Given the description of an element on the screen output the (x, y) to click on. 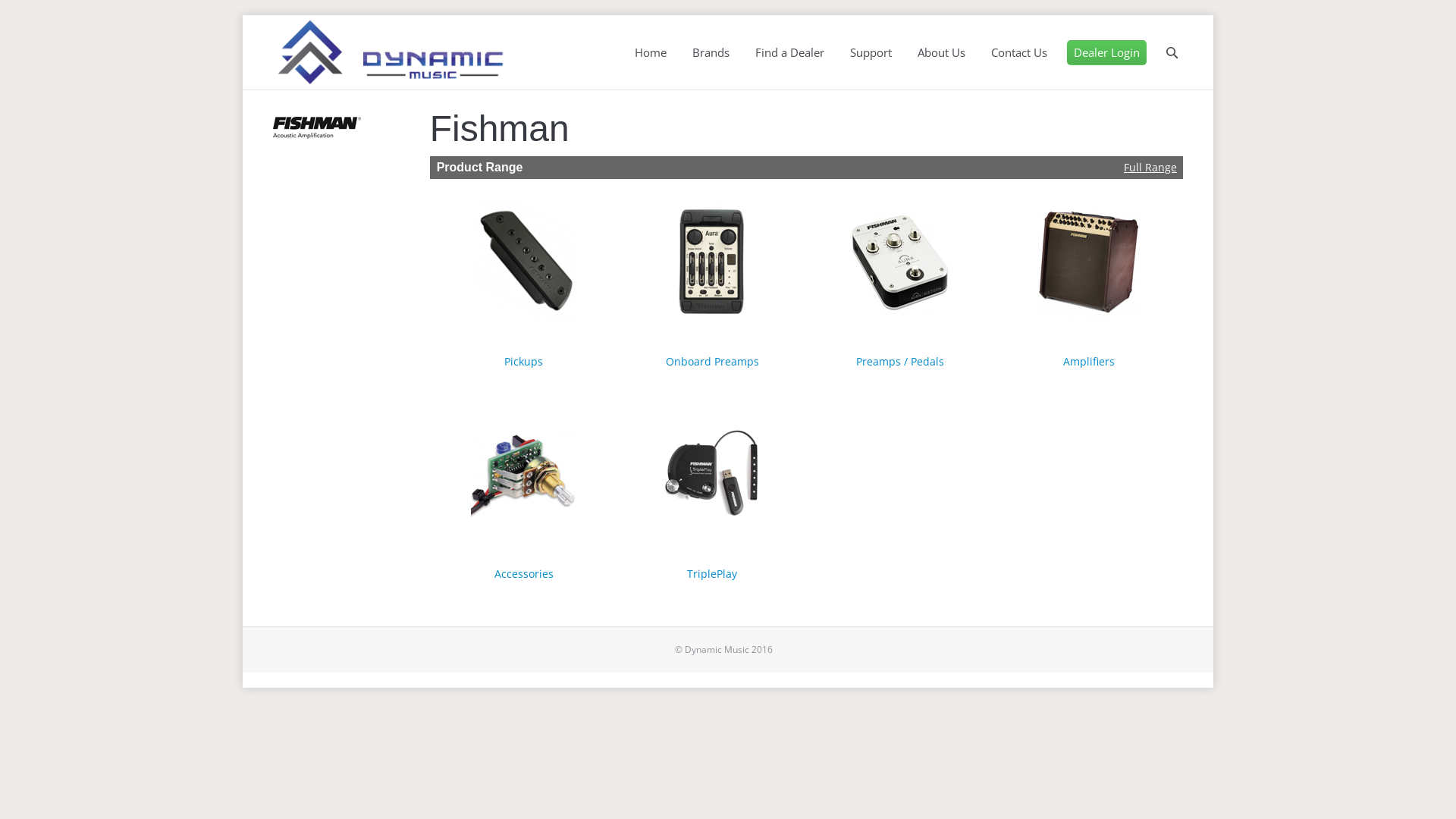
Onboard Preamps Element type: text (712, 361)
Go! Element type: text (16, 14)
Contact Us Element type: text (1019, 52)
Pickups Element type: text (523, 361)
About Us Element type: text (941, 52)
Full Range Element type: text (1149, 167)
Support Element type: text (870, 52)
Preamps / Pedals Element type: text (900, 361)
Amplifiers Element type: text (1088, 361)
Brands Element type: text (710, 52)
Home Element type: text (650, 52)
Dealer Login Element type: text (1106, 52)
Accessories Element type: text (523, 573)
Find a Dealer Element type: text (789, 52)
TriplePlay Element type: text (712, 573)
